Given the description of an element on the screen output the (x, y) to click on. 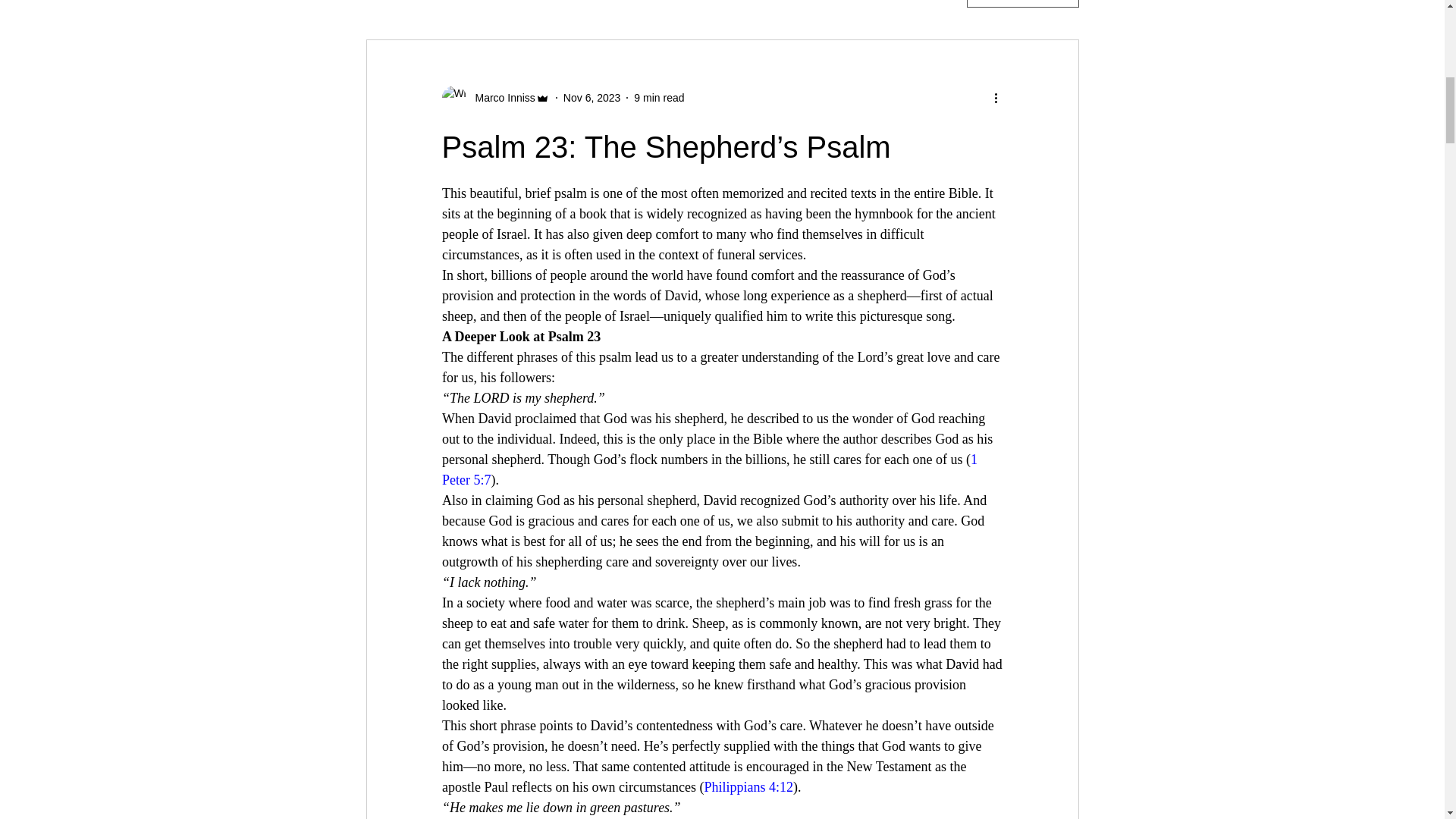
1 Peter 5:7 (710, 469)
Marco Inniss (499, 97)
Nov 6, 2023 (592, 96)
9 min read (658, 96)
All Posts (390, 1)
Philippians 4:12 (748, 786)
